Given the description of an element on the screen output the (x, y) to click on. 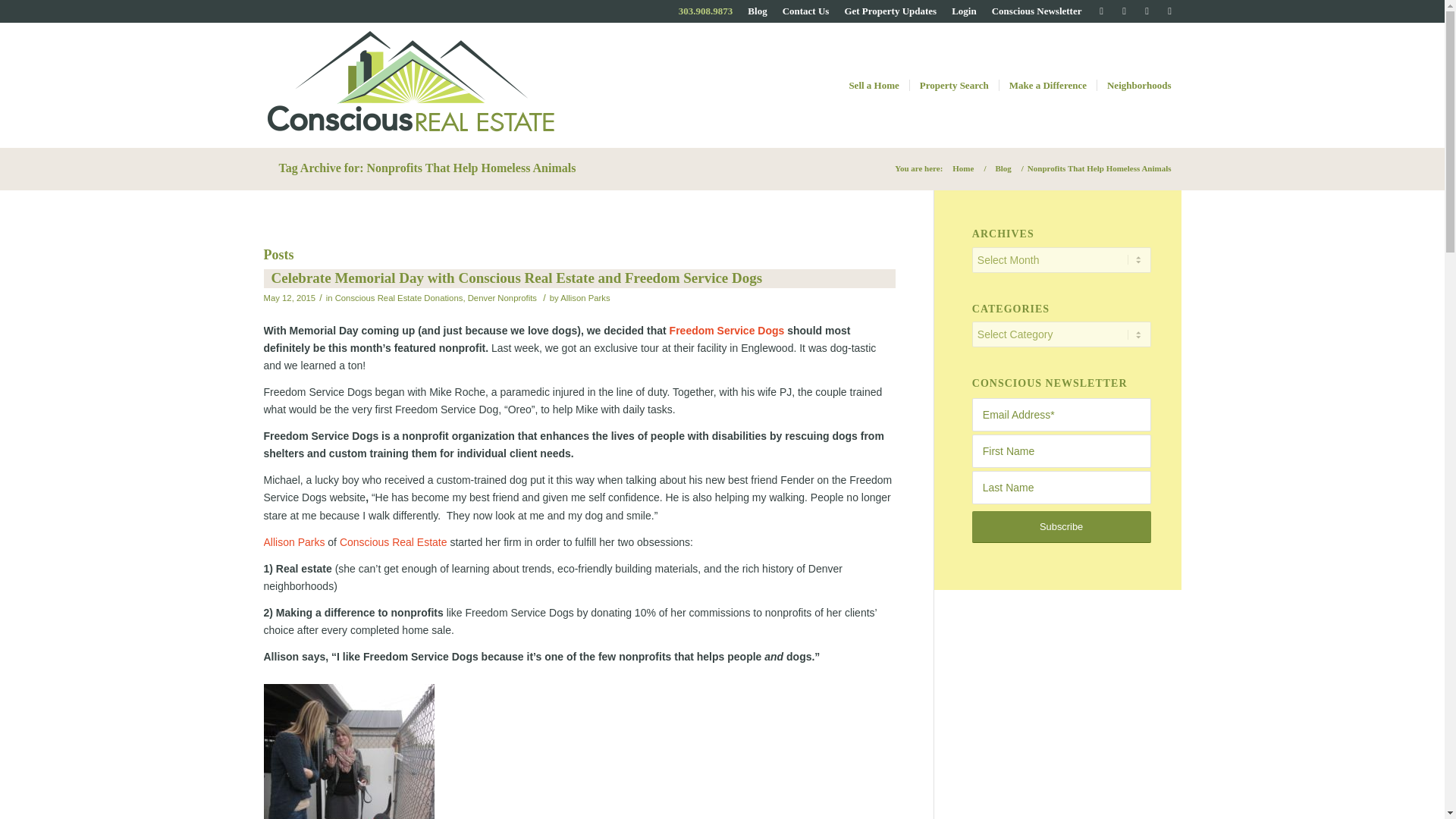
Twitter (1101, 11)
Posts by Allison Parks (585, 297)
Conscious Newsletter (1036, 11)
303.908.9873 (705, 10)
Get Property Updates (890, 11)
Login (964, 11)
Linkedin (1169, 11)
Conscious Real Estate (962, 168)
Subscribe (1061, 526)
